Given the description of an element on the screen output the (x, y) to click on. 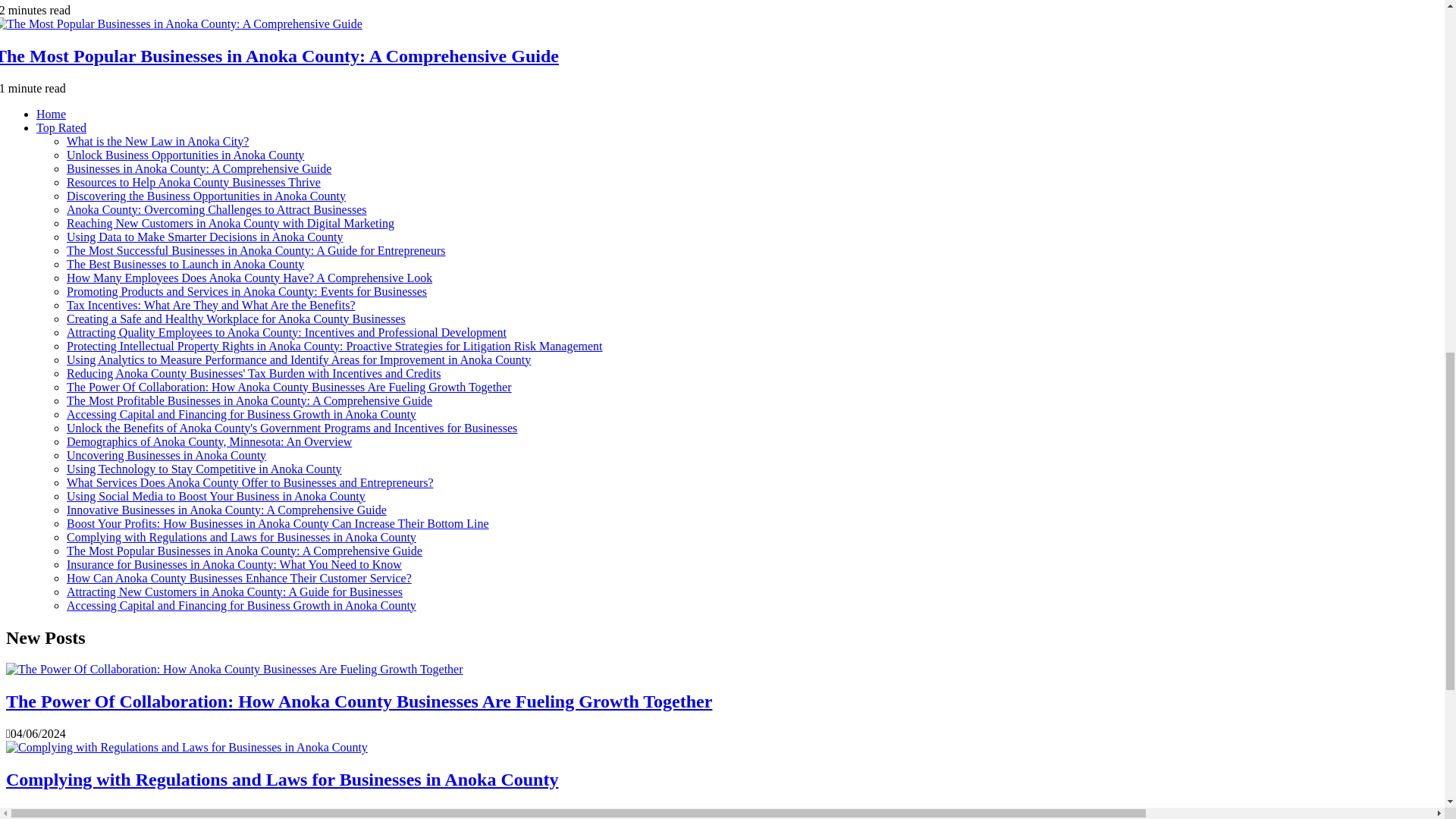
Resources to Help Anoka County Businesses Thrive (193, 182)
Discovering the Business Opportunities in Anoka County (206, 195)
Businesses in Anoka County: A Comprehensive Guide (198, 168)
The Best Businesses to Launch in Anoka County (185, 264)
Anoka County: Overcoming Challenges to Attract Businesses (216, 209)
Top Rated (60, 127)
Tax Incentives: What Are They and What Are the Benefits? (210, 305)
Unlock Business Opportunities in Anoka County (185, 154)
